Given the description of an element on the screen output the (x, y) to click on. 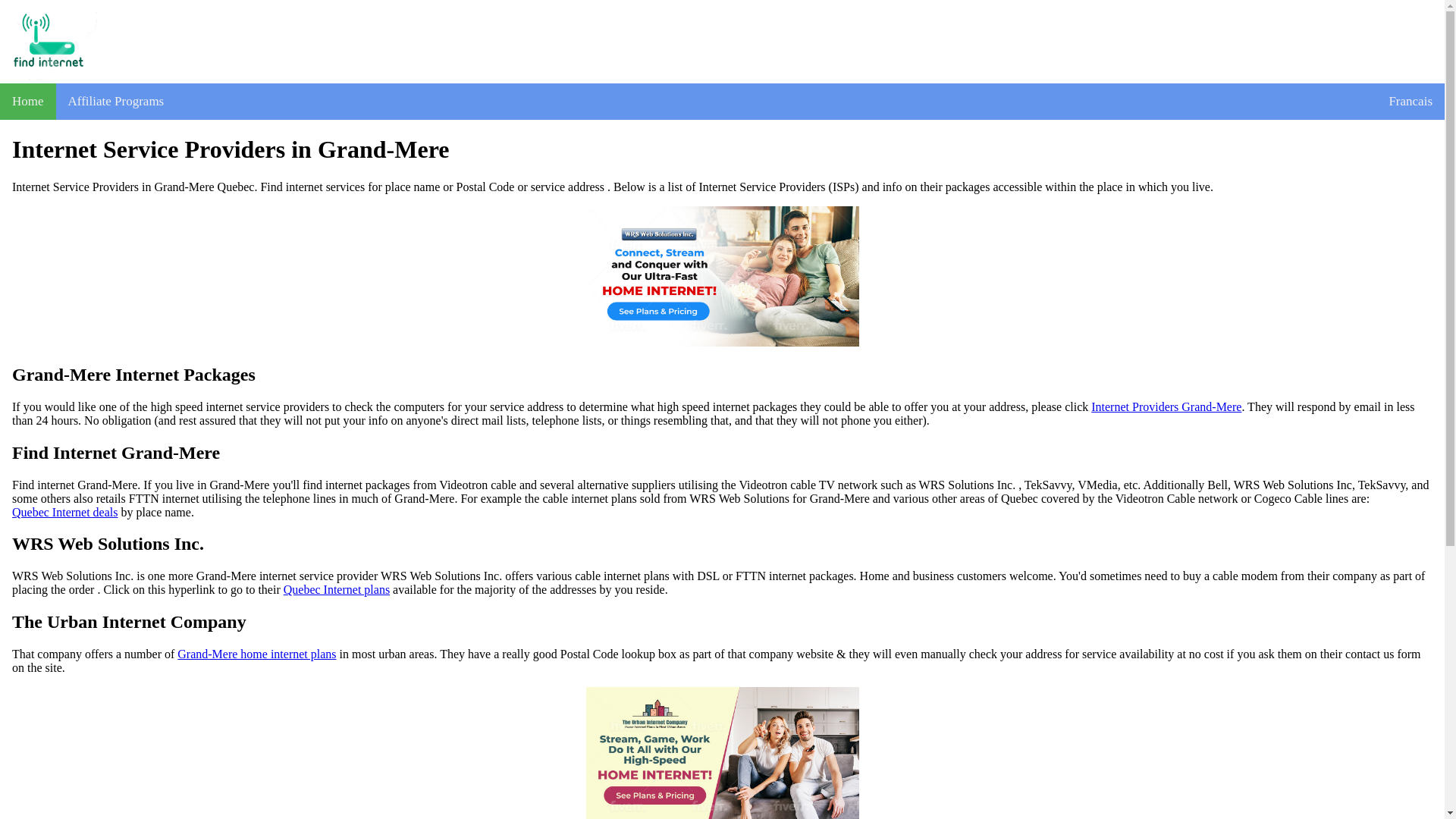
Grand-Mere home internet plans (256, 653)
Internet Providers Grand-Mere (1165, 407)
Quebec Internet deals (64, 511)
Affiliate Programs (116, 101)
Quebec Internet plans (336, 590)
Home (28, 101)
